Given the description of an element on the screen output the (x, y) to click on. 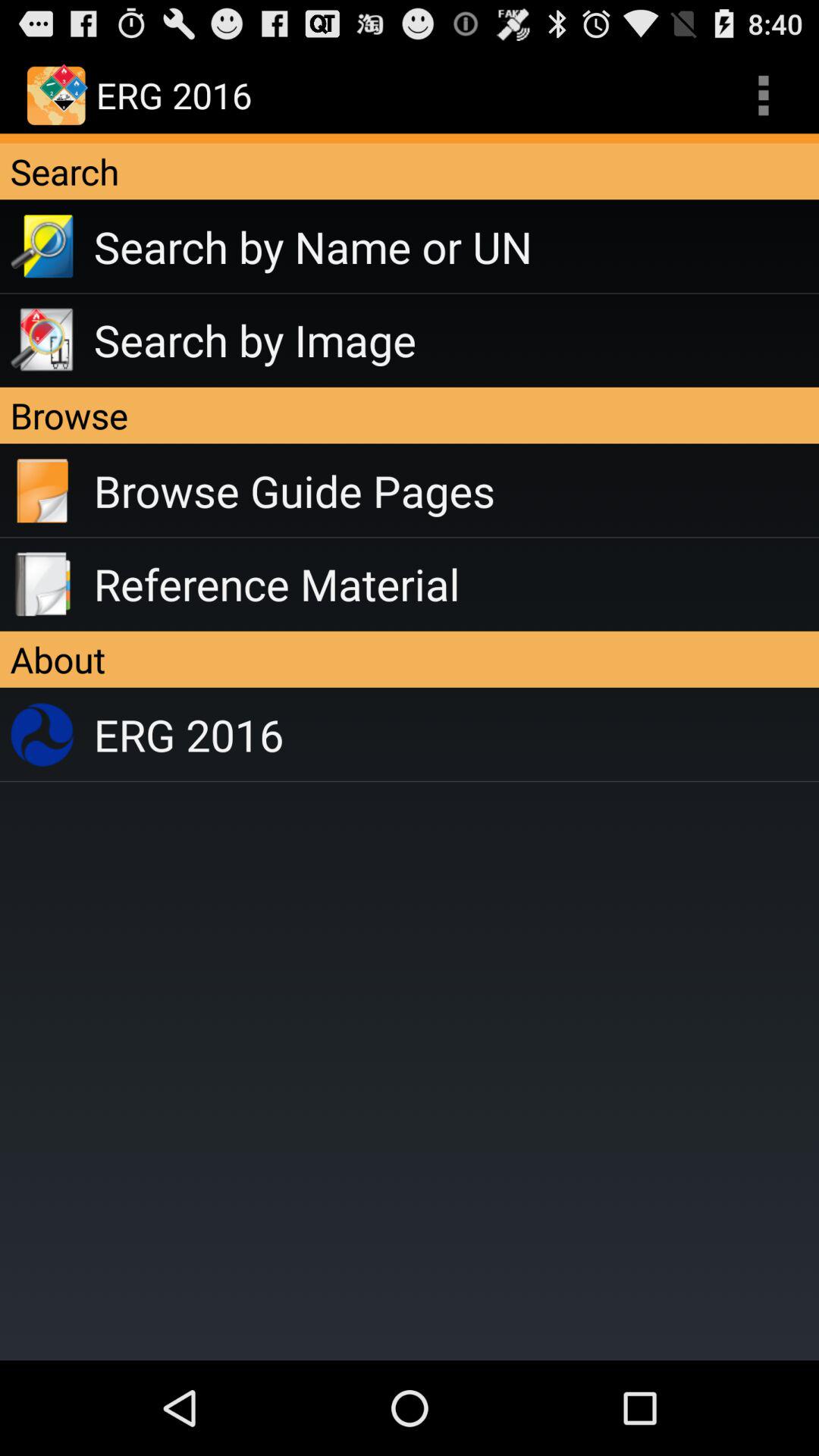
tap about (409, 659)
